Given the description of an element on the screen output the (x, y) to click on. 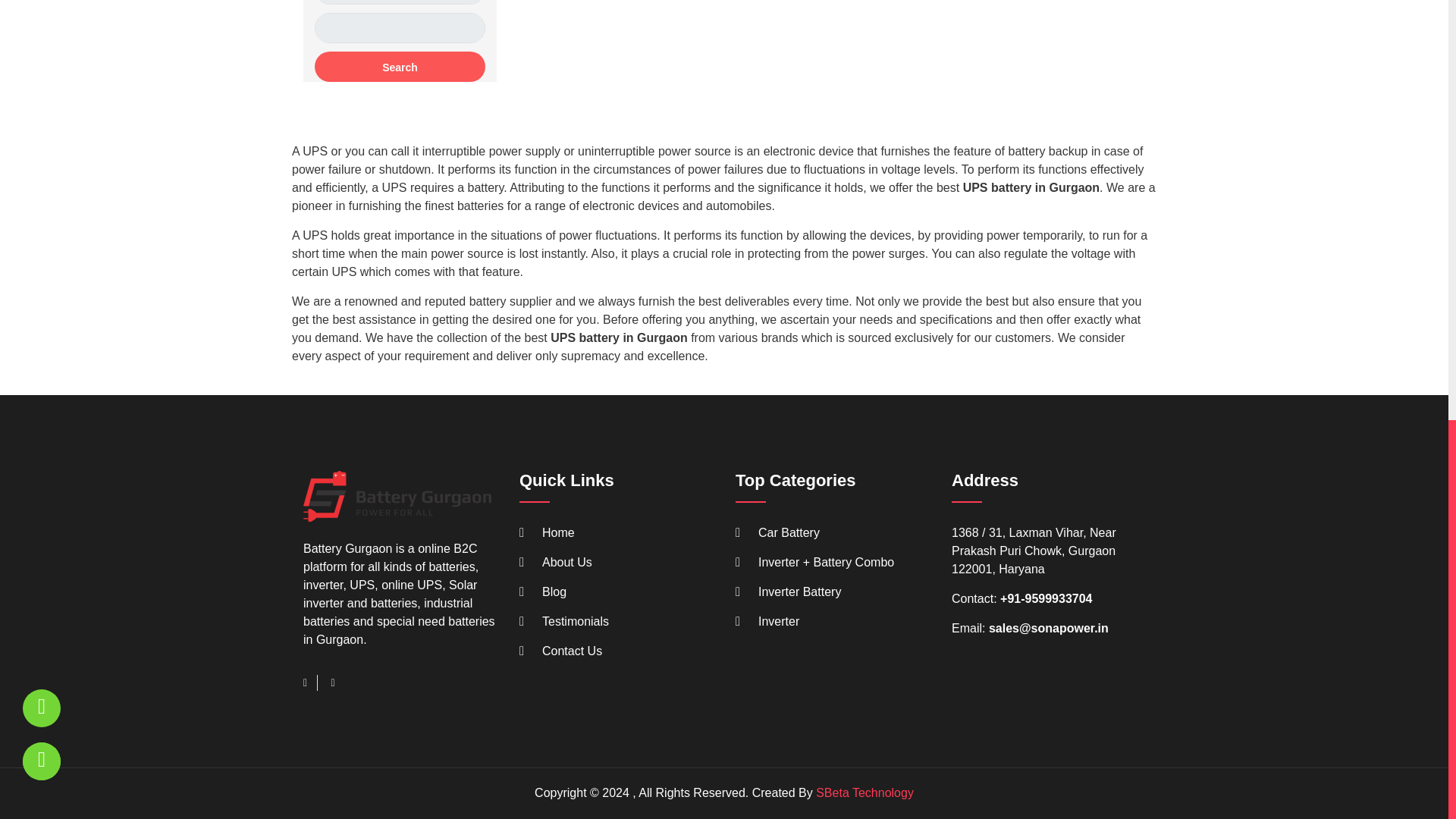
Search (399, 66)
